Given the description of an element on the screen output the (x, y) to click on. 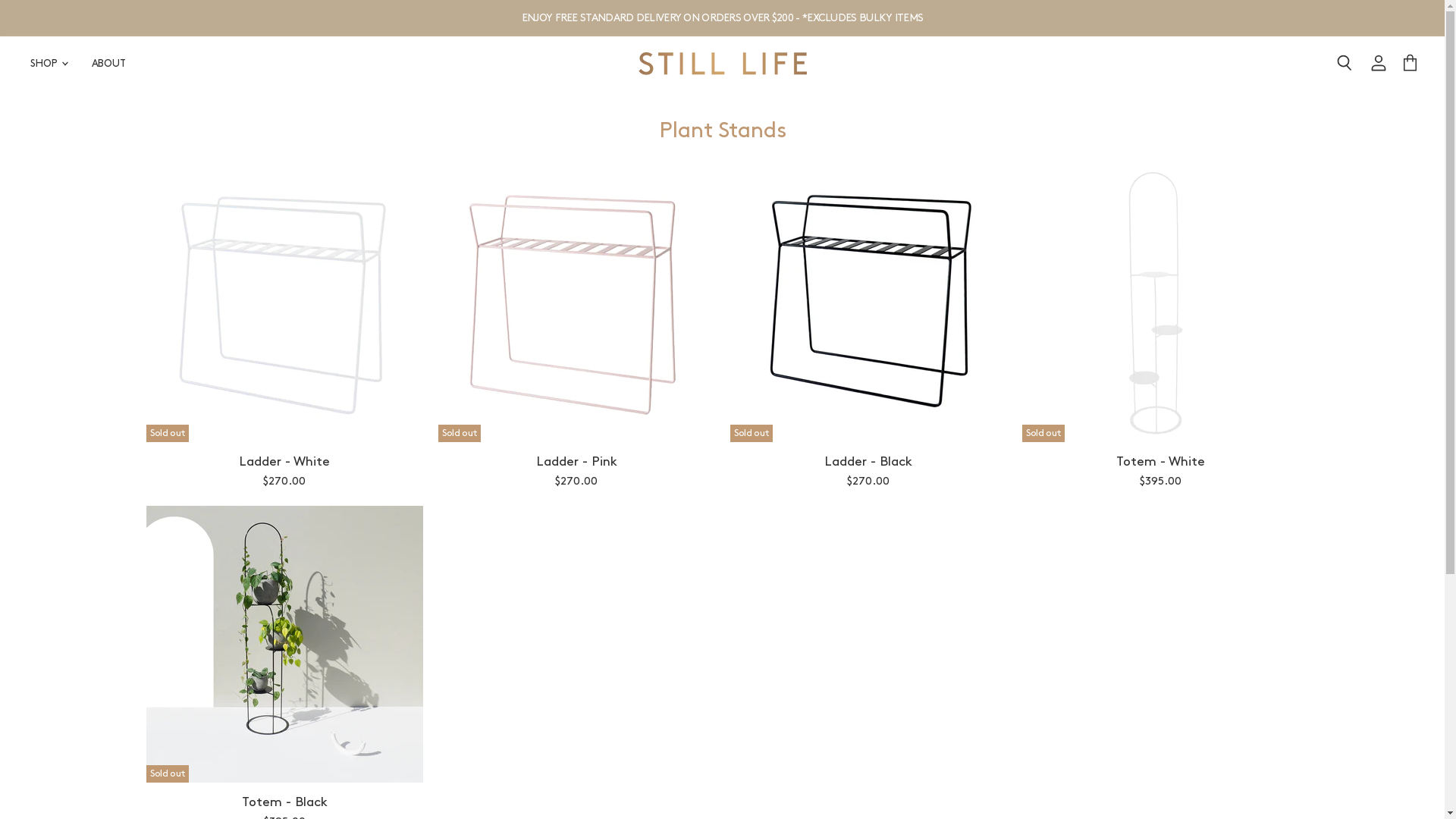
Ladder - Black Element type: text (868, 461)
Sold out Element type: text (867, 303)
View cart Element type: text (1409, 63)
View account Element type: text (1378, 63)
ABOUT Element type: text (108, 63)
SHOP Element type: text (47, 63)
Sold out Element type: text (283, 303)
Ladder - White Element type: text (283, 461)
Sold out Element type: text (576, 303)
Search Element type: text (1343, 63)
Ladder - Pink Element type: text (575, 461)
Sold out Element type: text (1160, 303)
Totem - White Element type: text (1160, 461)
Sold out Element type: text (283, 643)
Totem - Black Element type: text (283, 802)
